Given the description of an element on the screen output the (x, y) to click on. 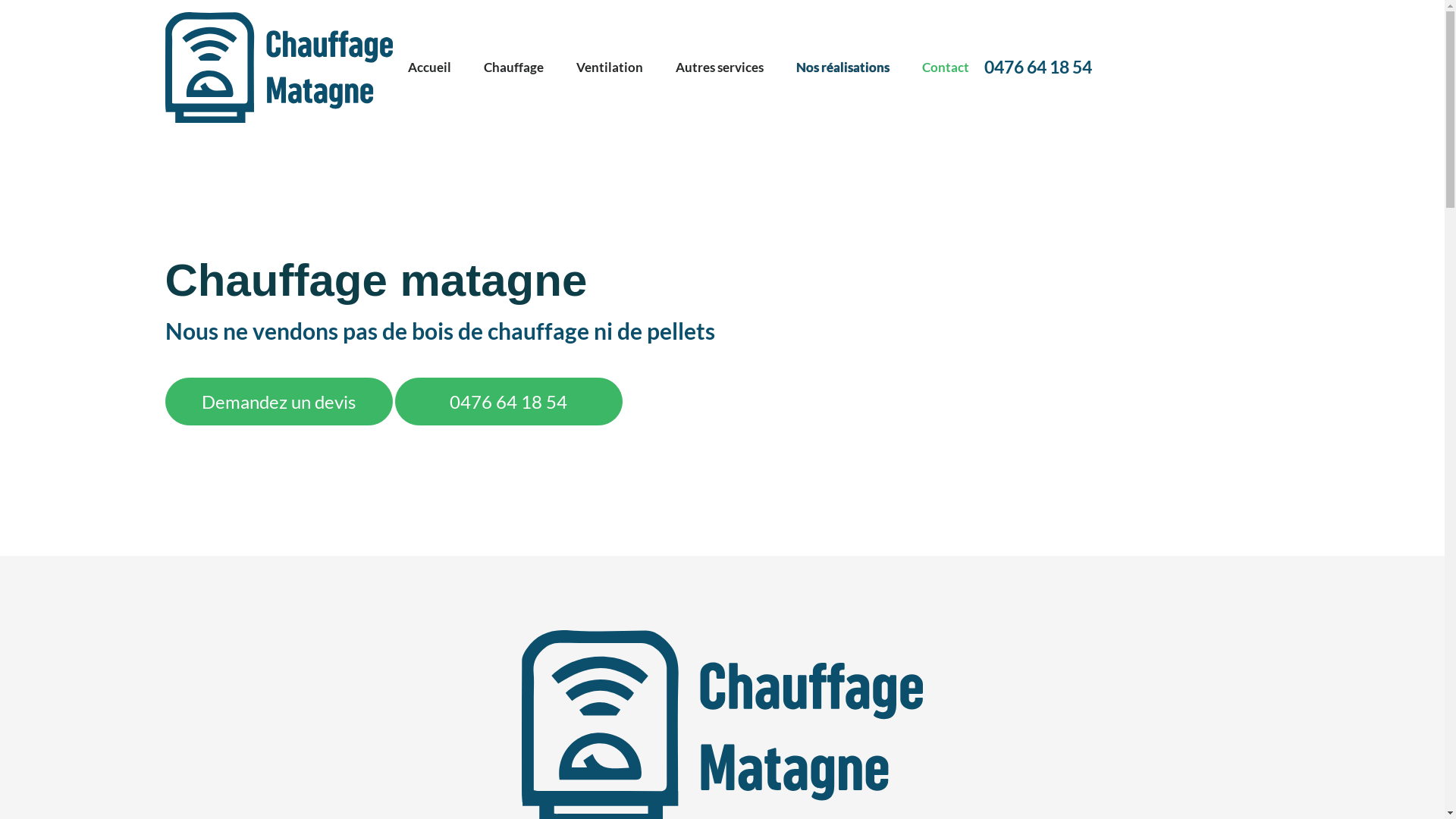
0476 64 18 54 Element type: text (1038, 66)
Chauffage Element type: text (513, 67)
Autres services Element type: text (718, 67)
Contact Element type: text (945, 67)
Accueil Element type: text (429, 67)
0476 64 18 54 Element type: text (507, 401)
Demandez un devis Element type: text (278, 401)
Ventilation Element type: text (609, 67)
